Given the description of an element on the screen output the (x, y) to click on. 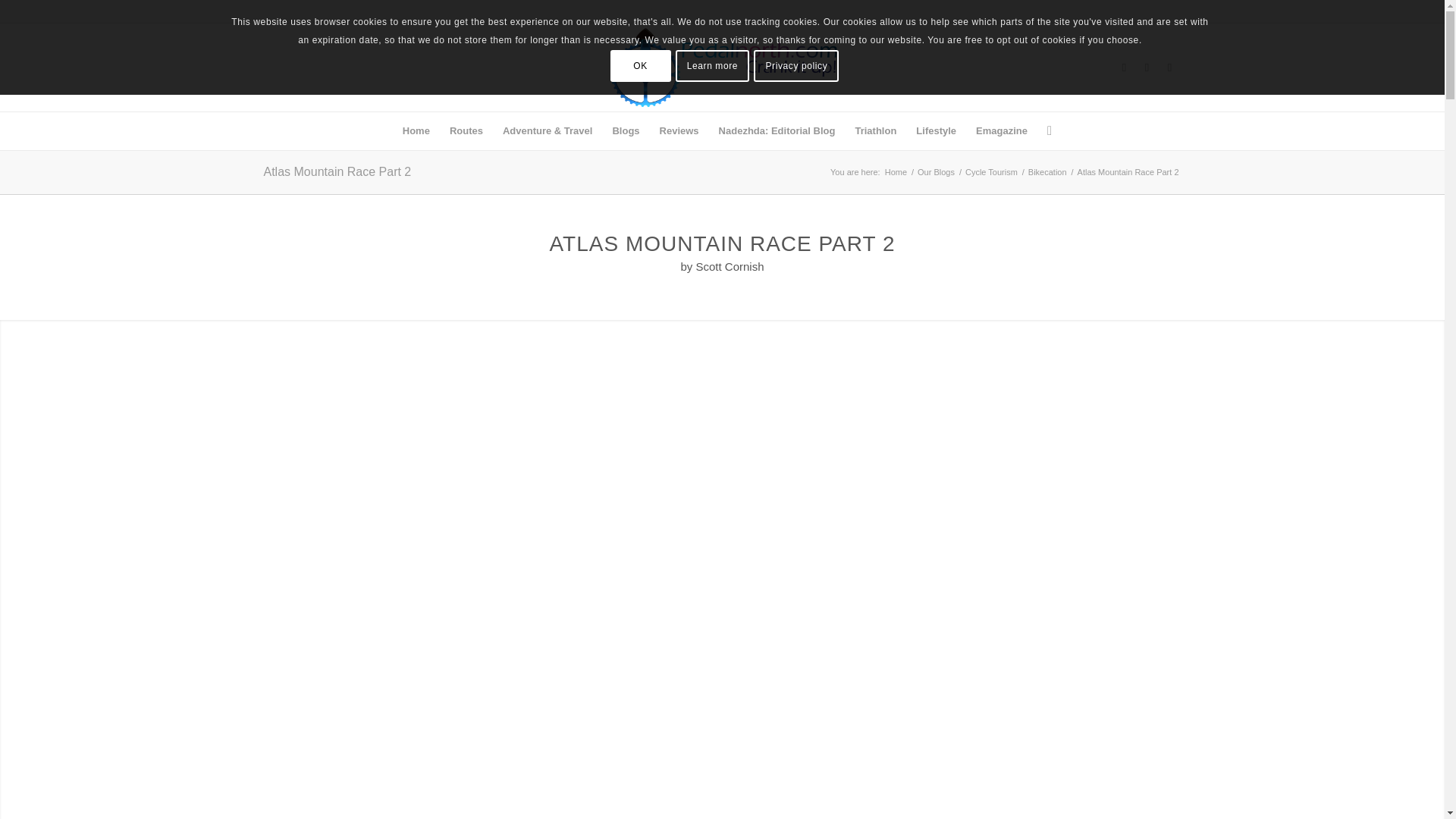
Our Blogs (935, 172)
Facebook (1124, 67)
Permanent Link: Atlas Mountain Race Part 2 (337, 171)
pedalnorth (895, 172)
Routes (466, 130)
X (1146, 67)
Home (416, 130)
Instagram (1169, 67)
